Given the description of an element on the screen output the (x, y) to click on. 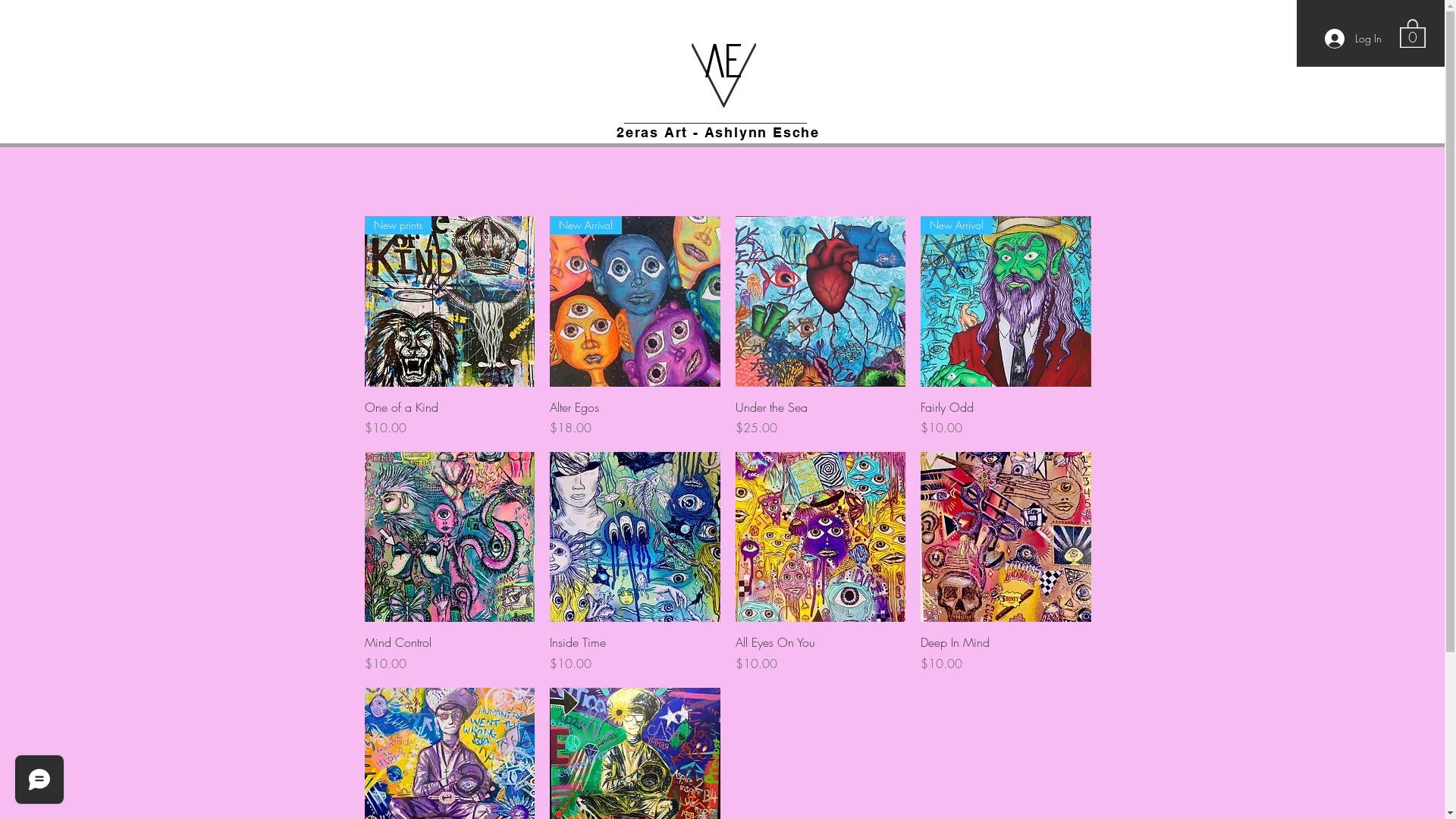
New prints Element type: text (449, 301)
Log In Element type: text (1353, 38)
Mind Control
Price
$10.00 Element type: text (449, 652)
Alter Egos
Price
$18.00 Element type: text (634, 417)
0 Element type: text (1412, 32)
One of a Kind
Price
$10.00 Element type: text (449, 417)
All Eyes On You
Price
$10.00 Element type: text (820, 652)
Under the Sea
Price
$25.00 Element type: text (820, 417)
AE Element type: text (723, 60)
TWIPLA (Visitor Analytics) Element type: hover (1442, 4)
Inside Time
Price
$10.00 Element type: text (634, 652)
New Arrival Element type: text (634, 301)
Fairly Odd
Price
$10.00 Element type: text (1005, 417)
New Arrival Element type: text (1005, 301)
Deep In Mind
Price
$10.00 Element type: text (1005, 652)
